Given the description of an element on the screen output the (x, y) to click on. 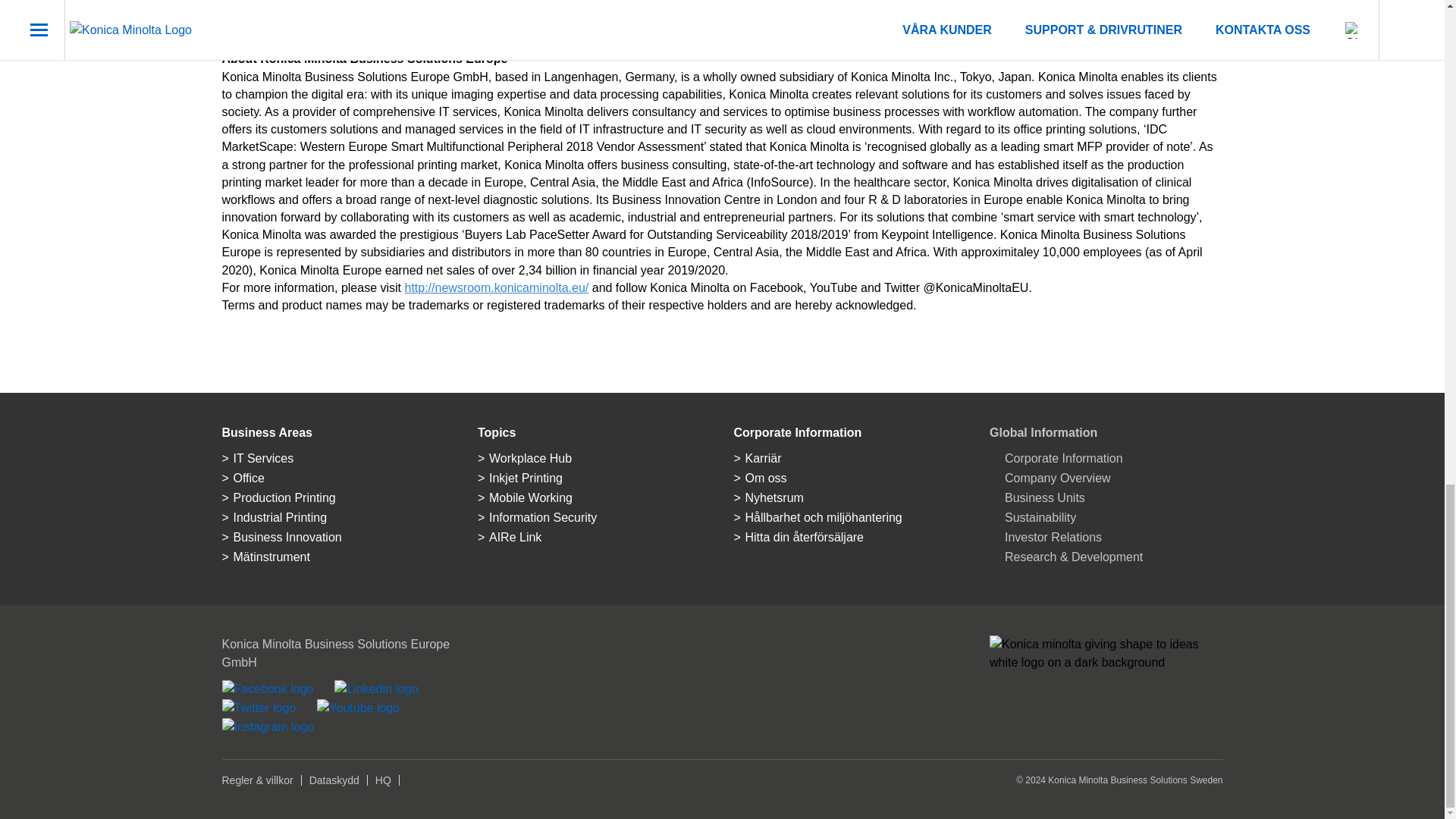
Corporate Information (1106, 458)
Om oss (850, 478)
AIRe Link (594, 537)
Production Printing (337, 497)
Business Innovation (337, 537)
Nyhetsrum (850, 497)
Inkjet Printing (594, 478)
Information Security (594, 517)
Workplace Hub (594, 458)
IT Services (337, 458)
Office (337, 478)
Industrial Printing (337, 517)
Mobile Working (594, 497)
